Given the description of an element on the screen output the (x, y) to click on. 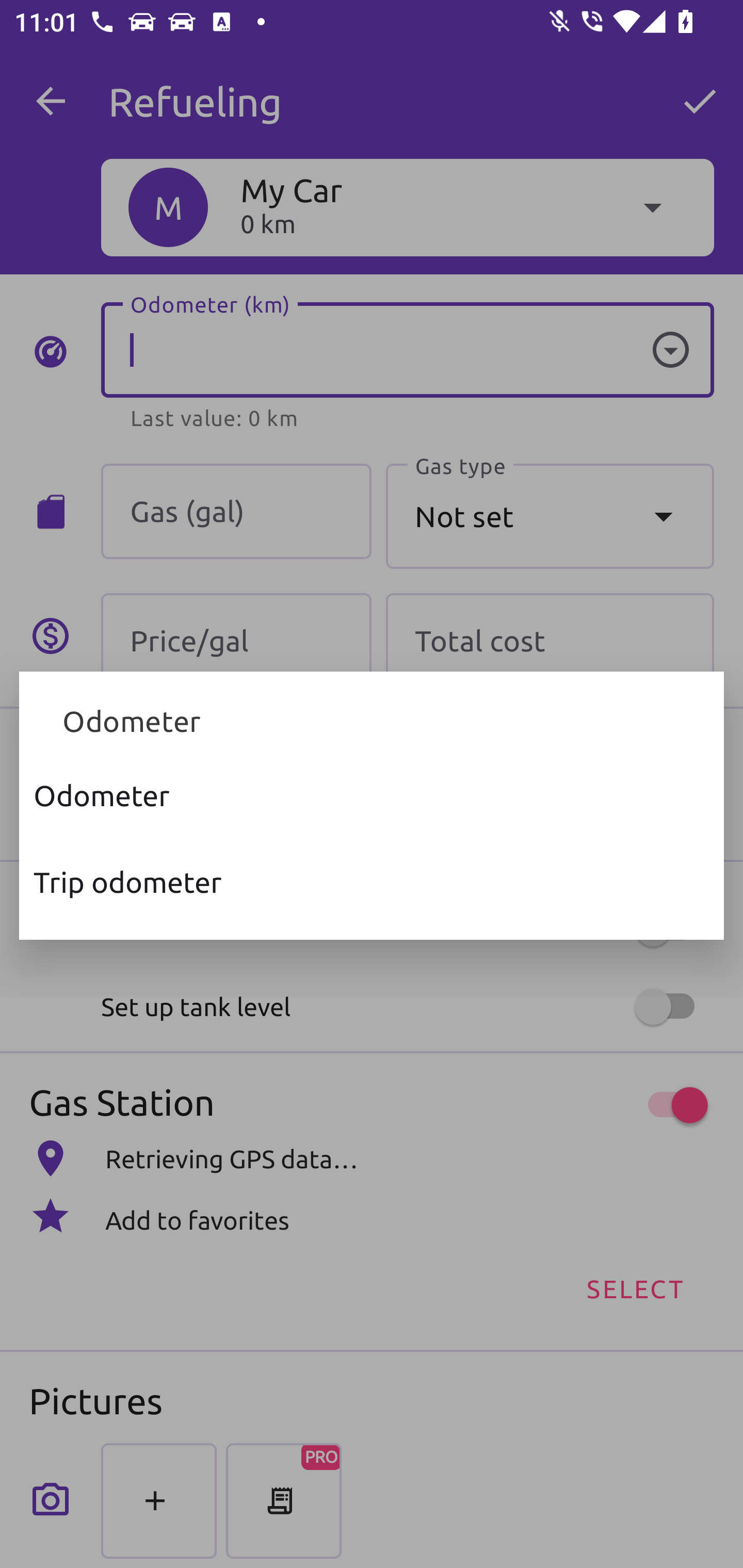
Odometer (371, 795)
Trip odometer (371, 881)
